Given the description of an element on the screen output the (x, y) to click on. 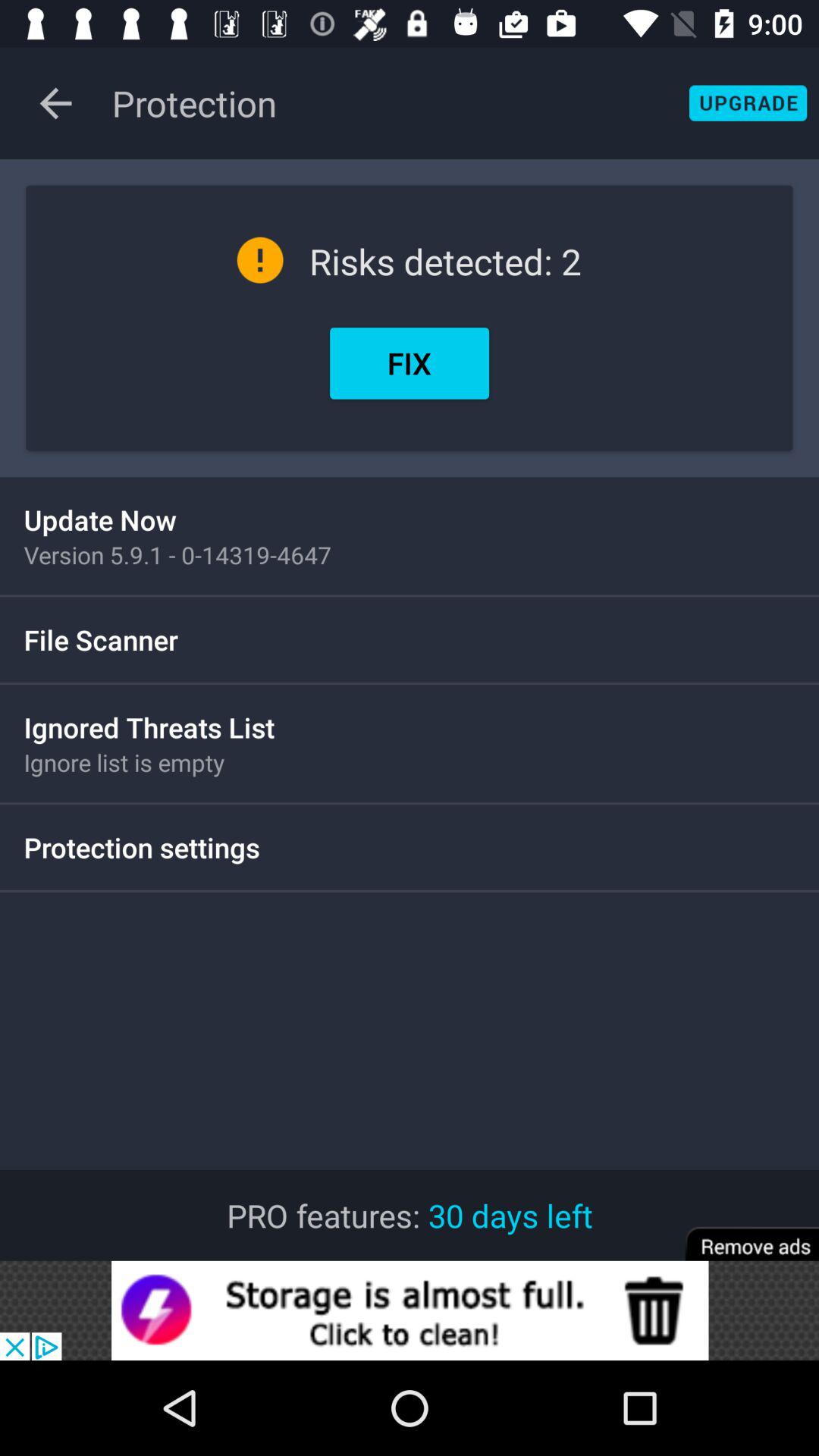
go to advertisement link (409, 1310)
